Given the description of an element on the screen output the (x, y) to click on. 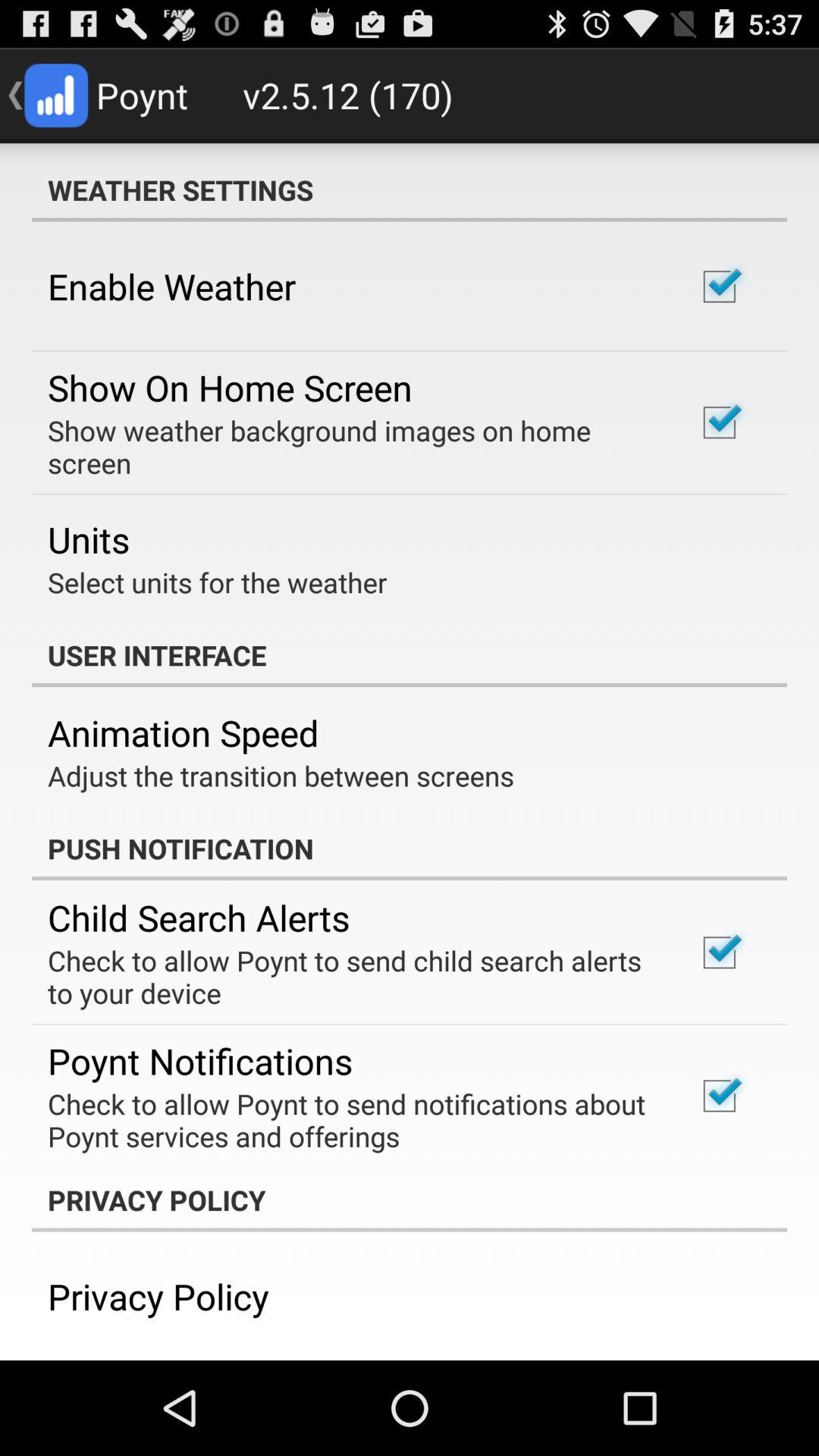
choose the app above animation speed app (409, 655)
